Given the description of an element on the screen output the (x, y) to click on. 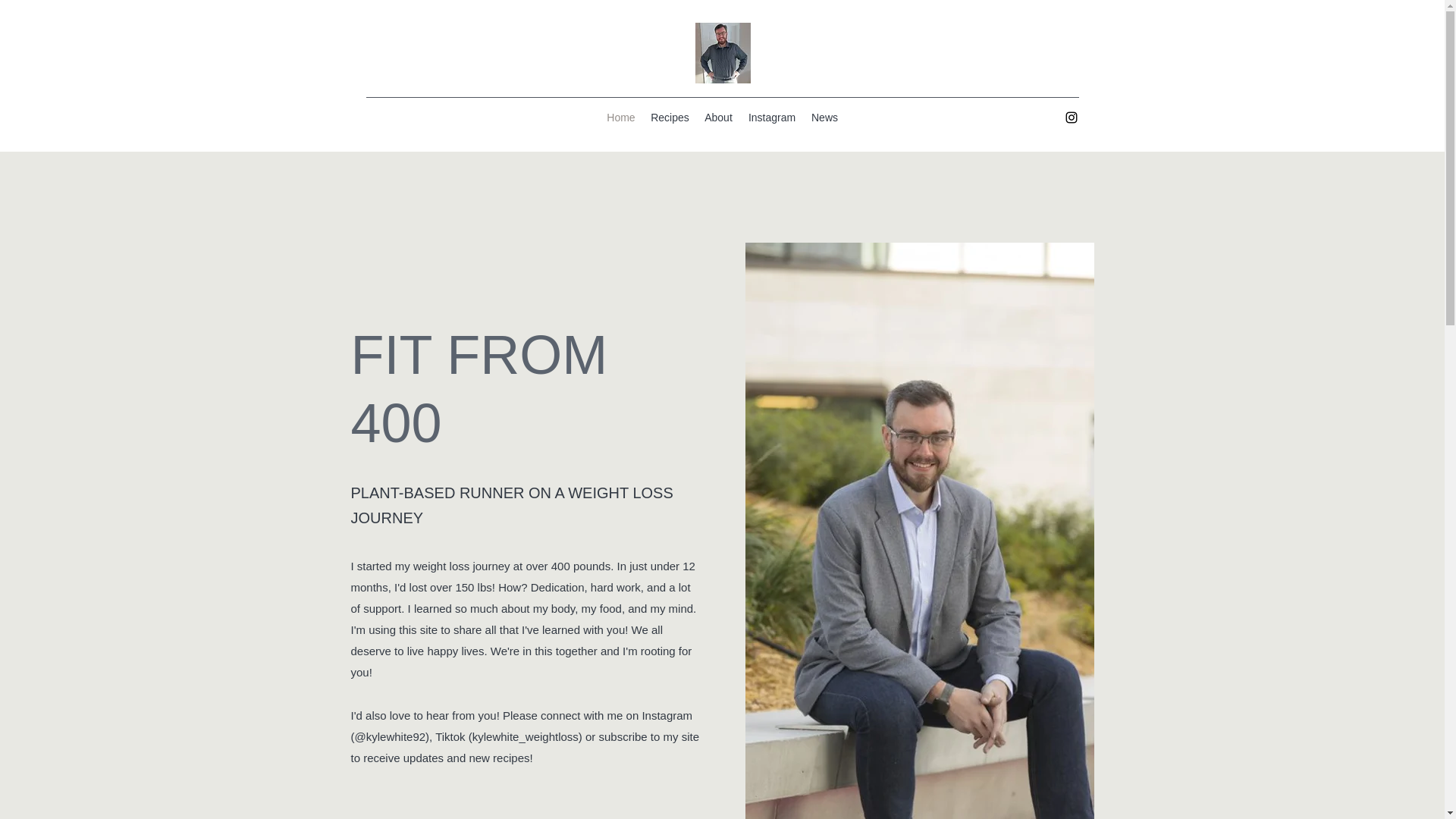
Home (620, 117)
Instagram (771, 117)
About (718, 117)
Recipes (670, 117)
News (824, 117)
